Given the description of an element on the screen output the (x, y) to click on. 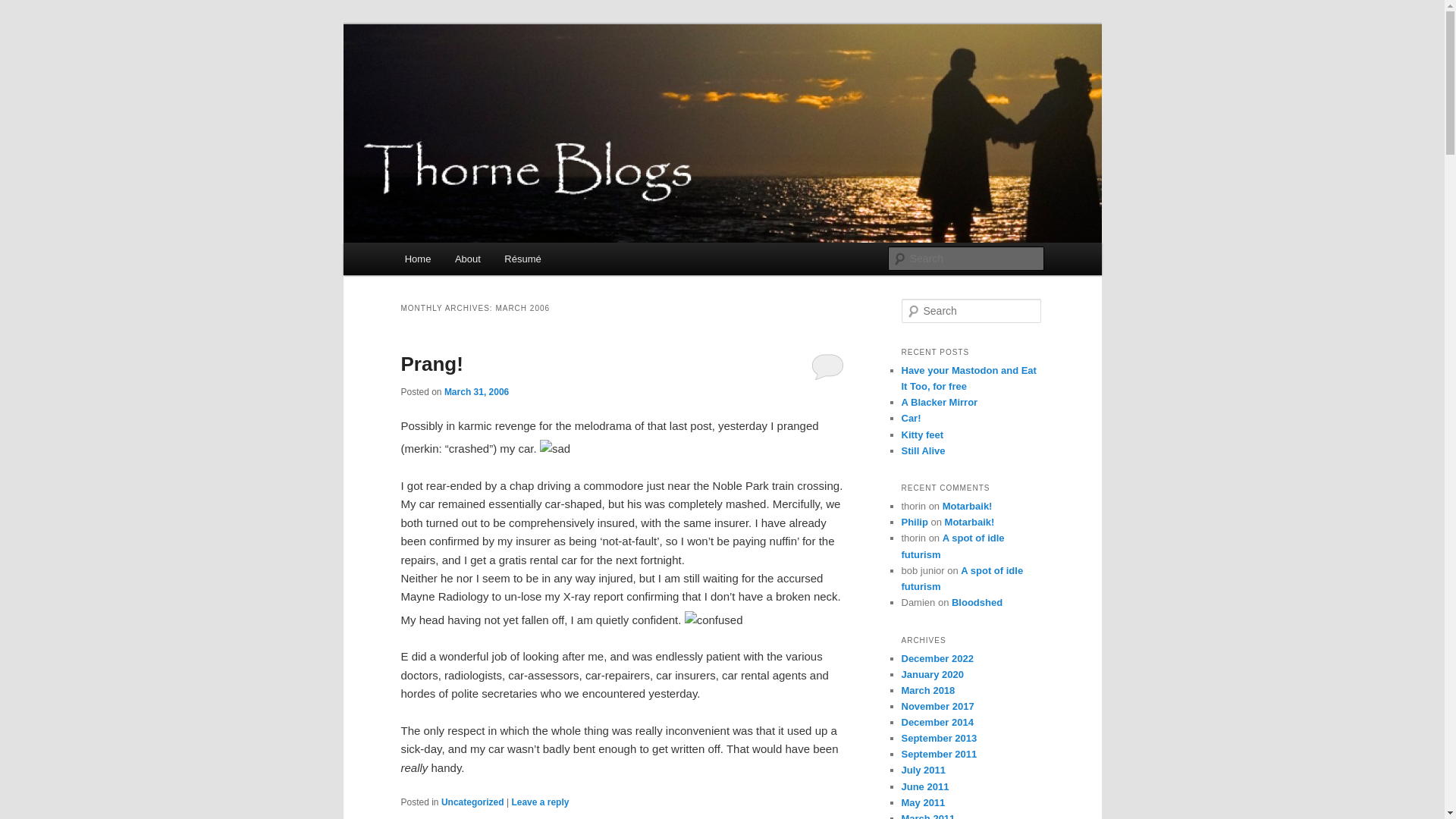
Prang! Element type: text (431, 363)
December 2022 Element type: text (936, 657)
A spot of idle futurism Element type: text (961, 578)
Thorne still blogs Element type: text (494, 78)
About Element type: text (467, 258)
Car! Element type: text (910, 417)
Bloodshed Element type: text (976, 602)
Motarbaik! Element type: text (967, 505)
May 2011 Element type: text (922, 802)
A Blacker Mirror Element type: text (938, 401)
September 2011 Element type: text (938, 753)
Philip Element type: text (913, 521)
November 2017 Element type: text (936, 706)
Skip to primary content Element type: text (22, 22)
July 2011 Element type: text (922, 769)
Leave a reply Element type: text (539, 802)
Motarbaik! Element type: text (969, 521)
Still Alive Element type: text (922, 450)
September 2013 Element type: text (938, 737)
Home Element type: text (417, 258)
June 2011 Element type: text (924, 786)
March 31, 2006 Element type: text (476, 391)
Search Element type: text (20, 10)
A spot of idle futurism Element type: text (952, 545)
Have your Mastodon and Eat It Too, for free Element type: text (967, 378)
March 2018 Element type: text (927, 690)
Search Element type: text (24, 8)
Uncategorized Element type: text (472, 802)
Kitty feet Element type: text (921, 434)
January 2020 Element type: text (931, 674)
December 2014 Element type: text (936, 722)
